Given the description of an element on the screen output the (x, y) to click on. 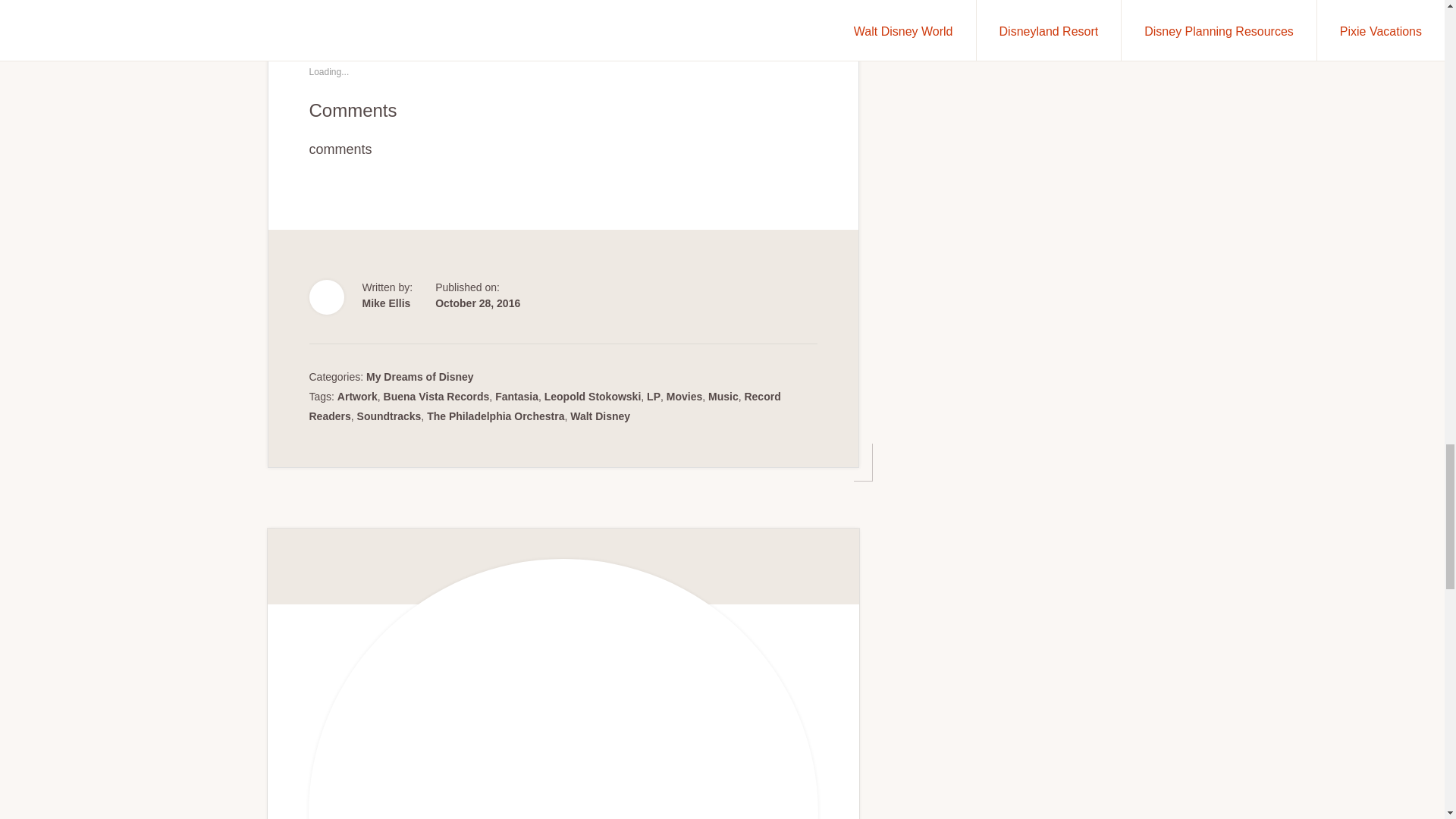
Click to email a link to a friend (388, 3)
